Given the description of an element on the screen output the (x, y) to click on. 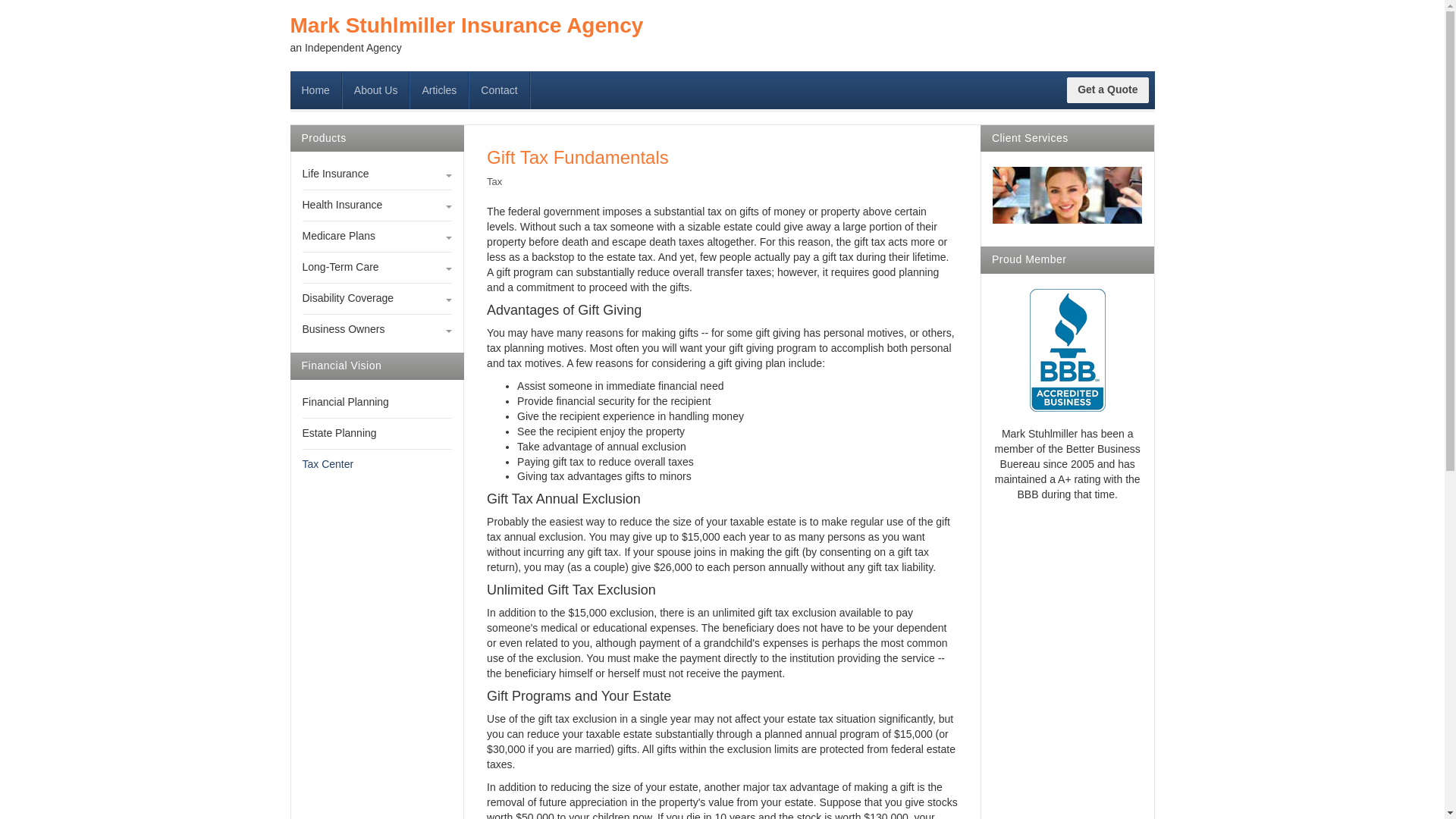
Home (314, 89)
Mark Stuhlmiller Insurance Agency (466, 25)
Get a Quote (1107, 89)
Health Insurance (376, 205)
Long-Term Care (376, 267)
Mark Stuhlmiller Insurance Agency (466, 25)
Our partners (1067, 195)
Contact (498, 89)
Tax (494, 182)
Articles (439, 89)
Life Insurance (376, 174)
About Us (376, 89)
Medicare Plans (376, 236)
Gift Tax Fundamentals (577, 157)
Gift Tax Fundamentals (577, 157)
